Given the description of an element on the screen output the (x, y) to click on. 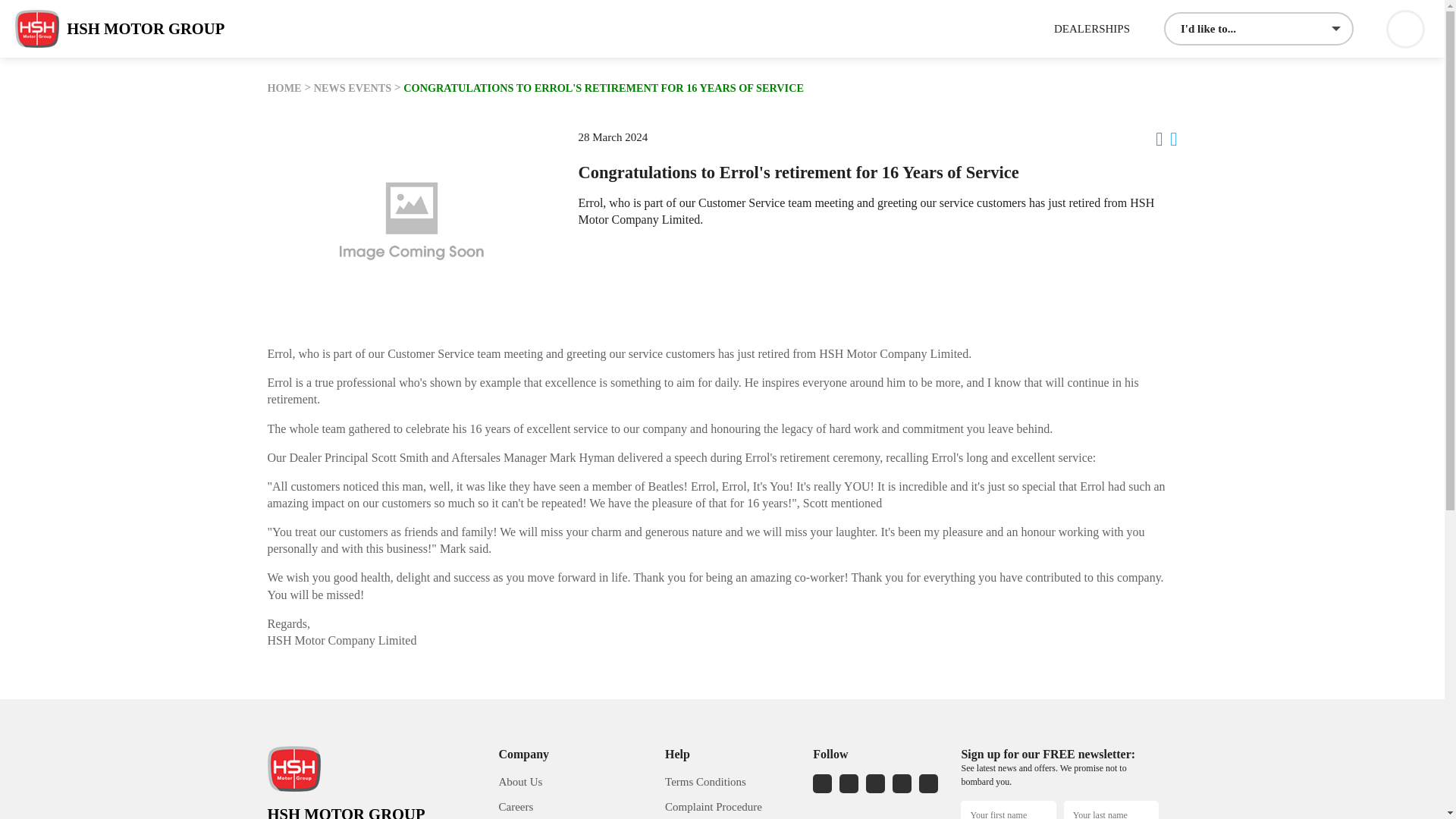
HSH MOTOR GROUP (119, 28)
NEWS EVENTS (352, 87)
NEWS  EVENTS (352, 87)
HOME (283, 87)
HSH Motor Group (119, 28)
HOME (283, 87)
Facebook (1158, 138)
Twitter (1173, 138)
DEALERSHIPS (1091, 28)
